Given the description of an element on the screen output the (x, y) to click on. 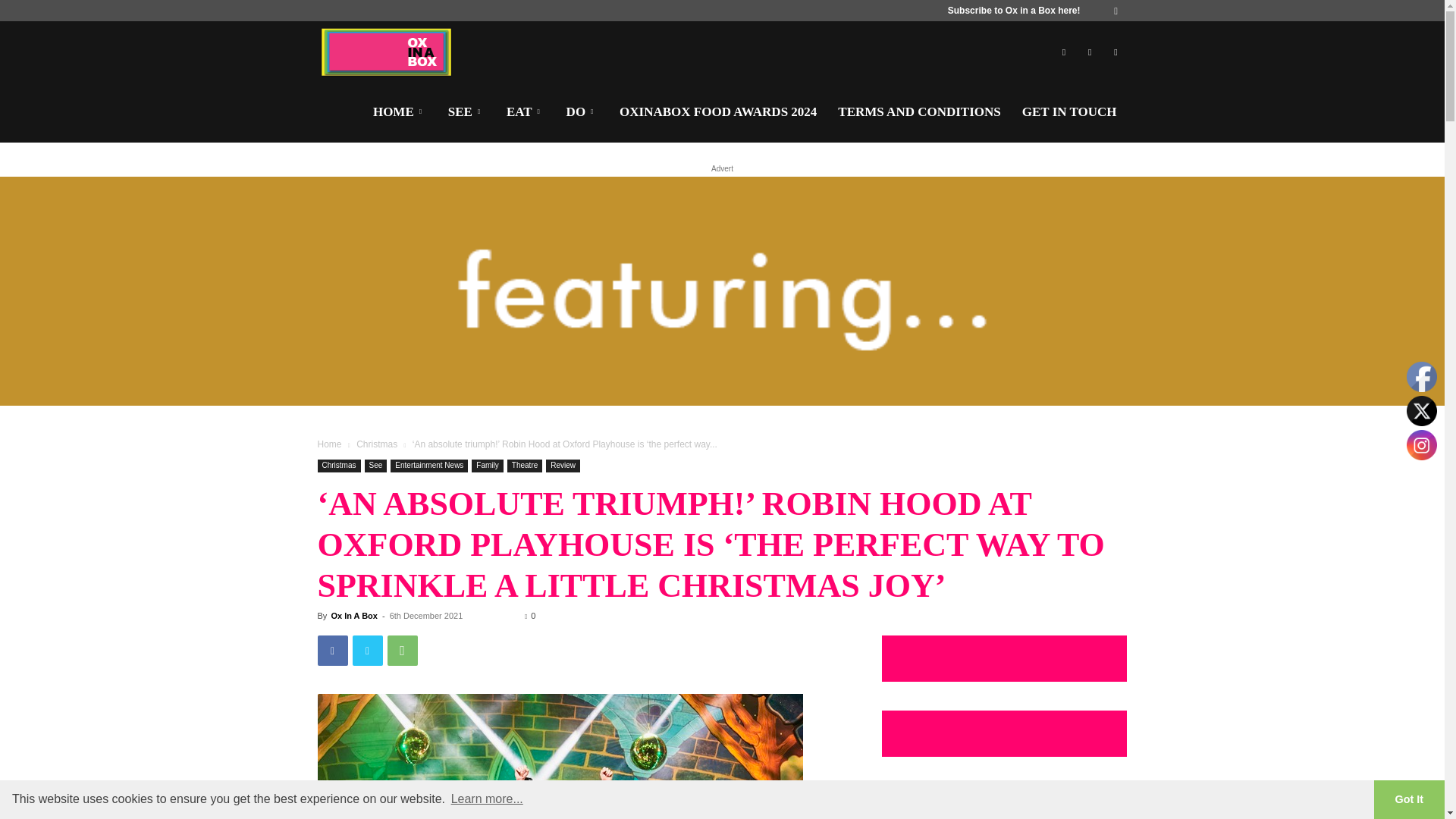
Subscribe to Ox in a Box here! (1013, 9)
View all posts in Christmas (376, 443)
WhatsApp (401, 650)
Search (1085, 64)
Ox in a Box (387, 52)
Facebook (332, 650)
Twitter (366, 650)
ROBIN HOOD (559, 756)
